Given the description of an element on the screen output the (x, y) to click on. 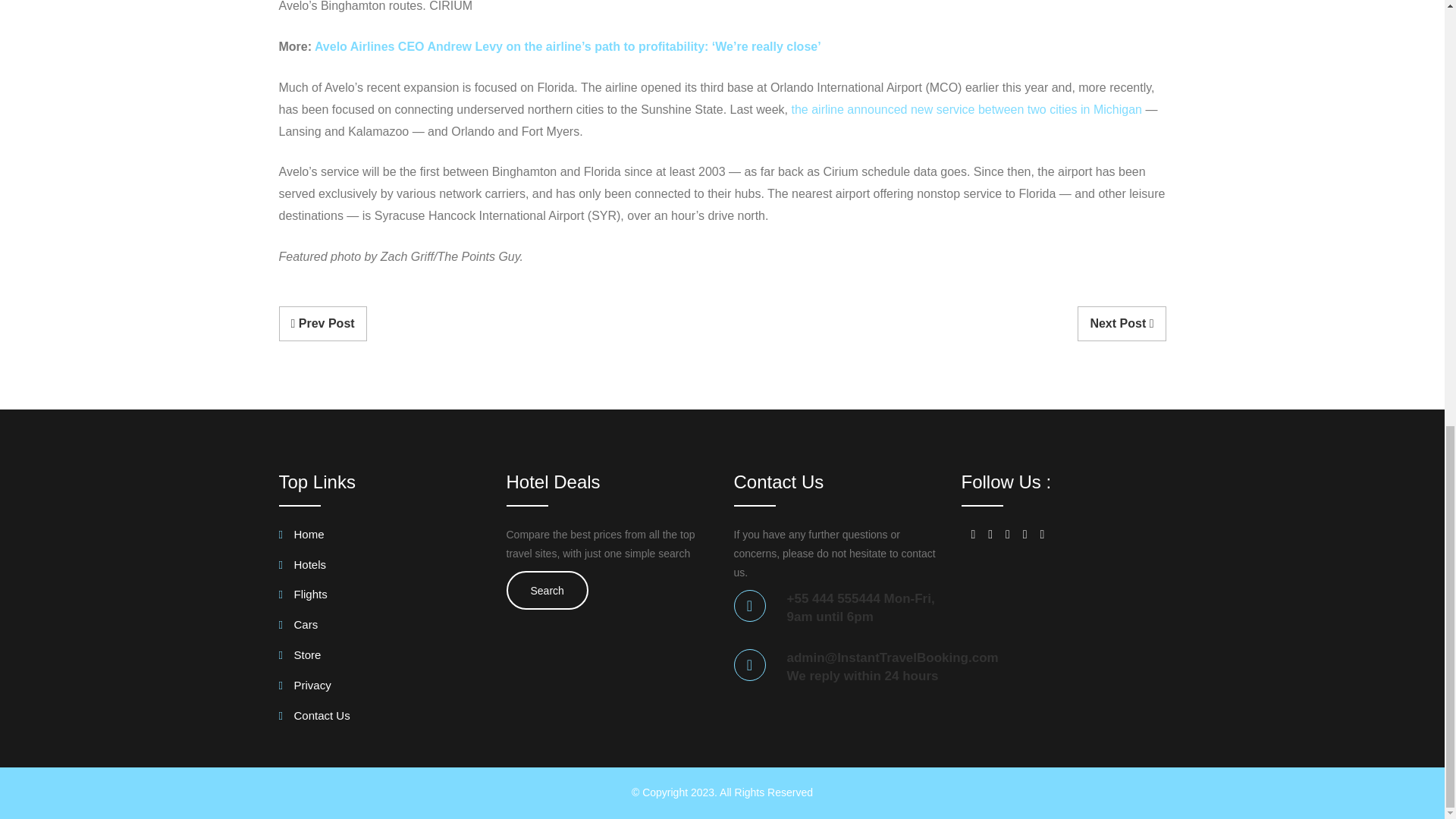
Home (301, 536)
Contact Us (314, 718)
Flights (303, 597)
Privacy (305, 688)
Store (300, 657)
Next Post (1121, 324)
Cars (298, 627)
Search (547, 589)
Prev Post (322, 324)
Hotels (302, 567)
